Given the description of an element on the screen output the (x, y) to click on. 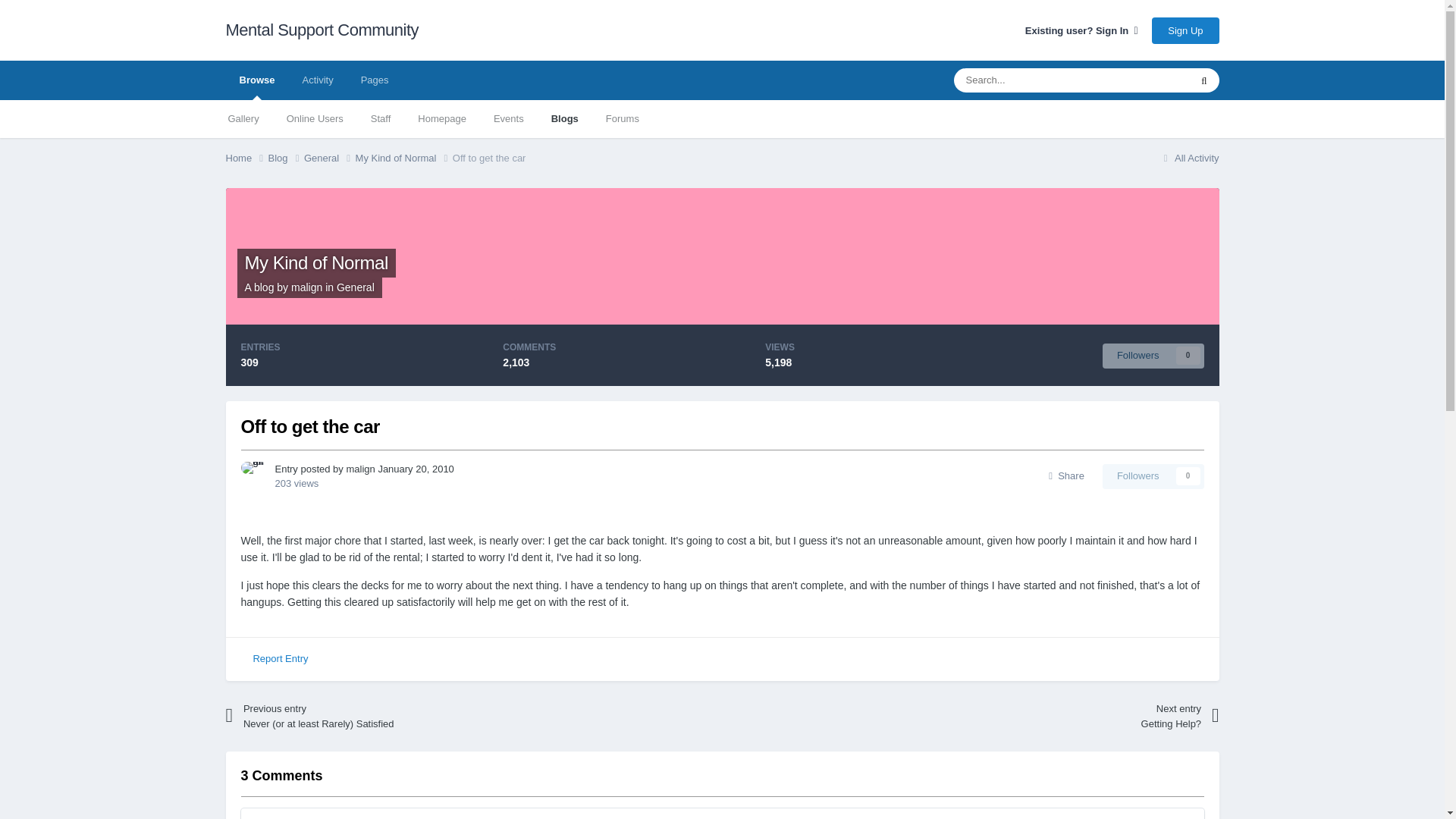
Sign in to follow this (1153, 476)
My Kind of Normal (403, 158)
Homepage (442, 118)
General (355, 287)
Home (246, 158)
malign (306, 287)
Go to malign's profile (360, 469)
All Activity (1188, 157)
Forums (1153, 355)
